Given the description of an element on the screen output the (x, y) to click on. 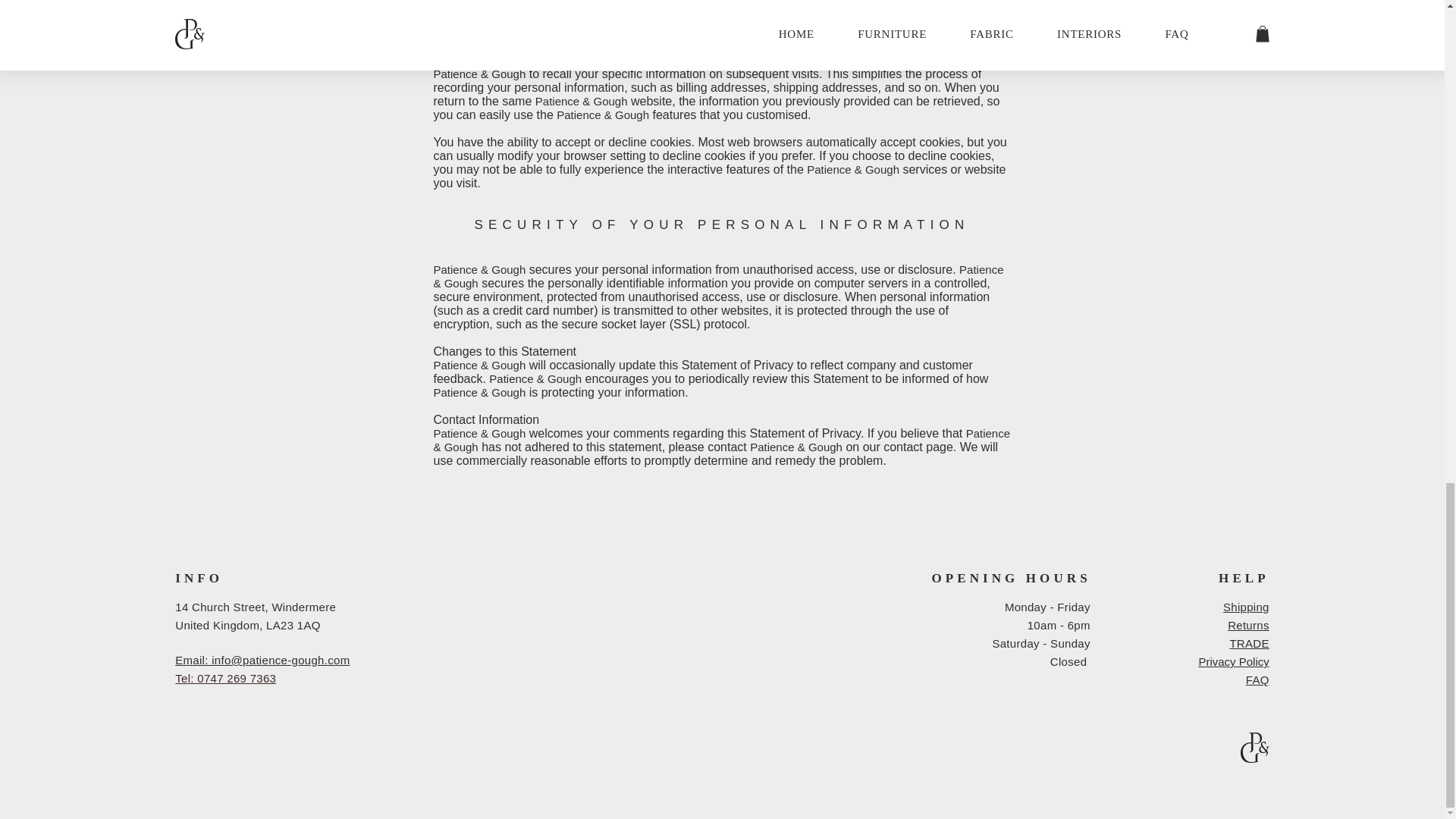
TRADE (1248, 643)
Privacy Policy (1233, 661)
Returns (1248, 625)
Shipping (1246, 606)
FAQ (1257, 679)
